Given the description of an element on the screen output the (x, y) to click on. 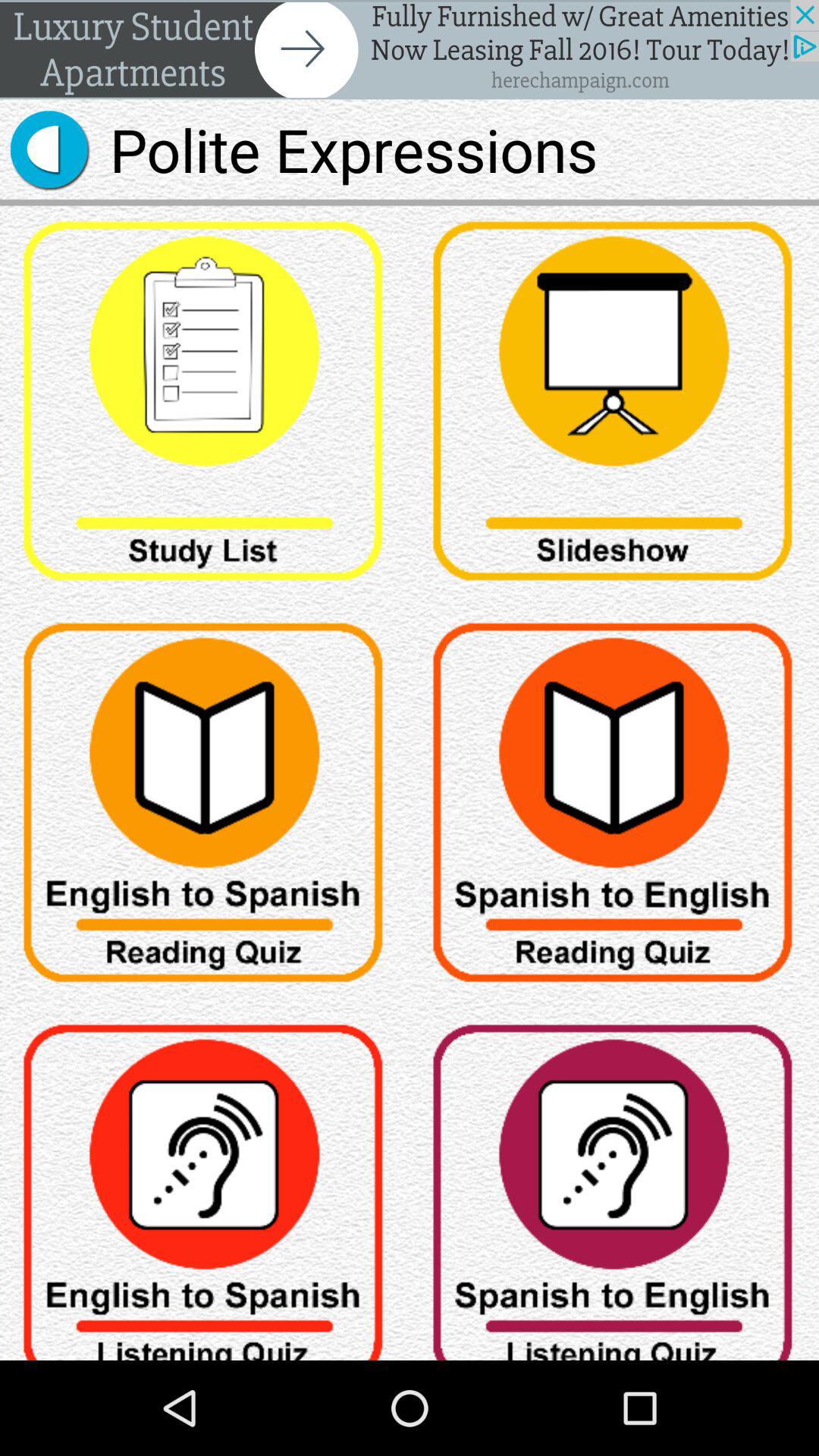
translating a language (614, 1184)
